Given the description of an element on the screen output the (x, y) to click on. 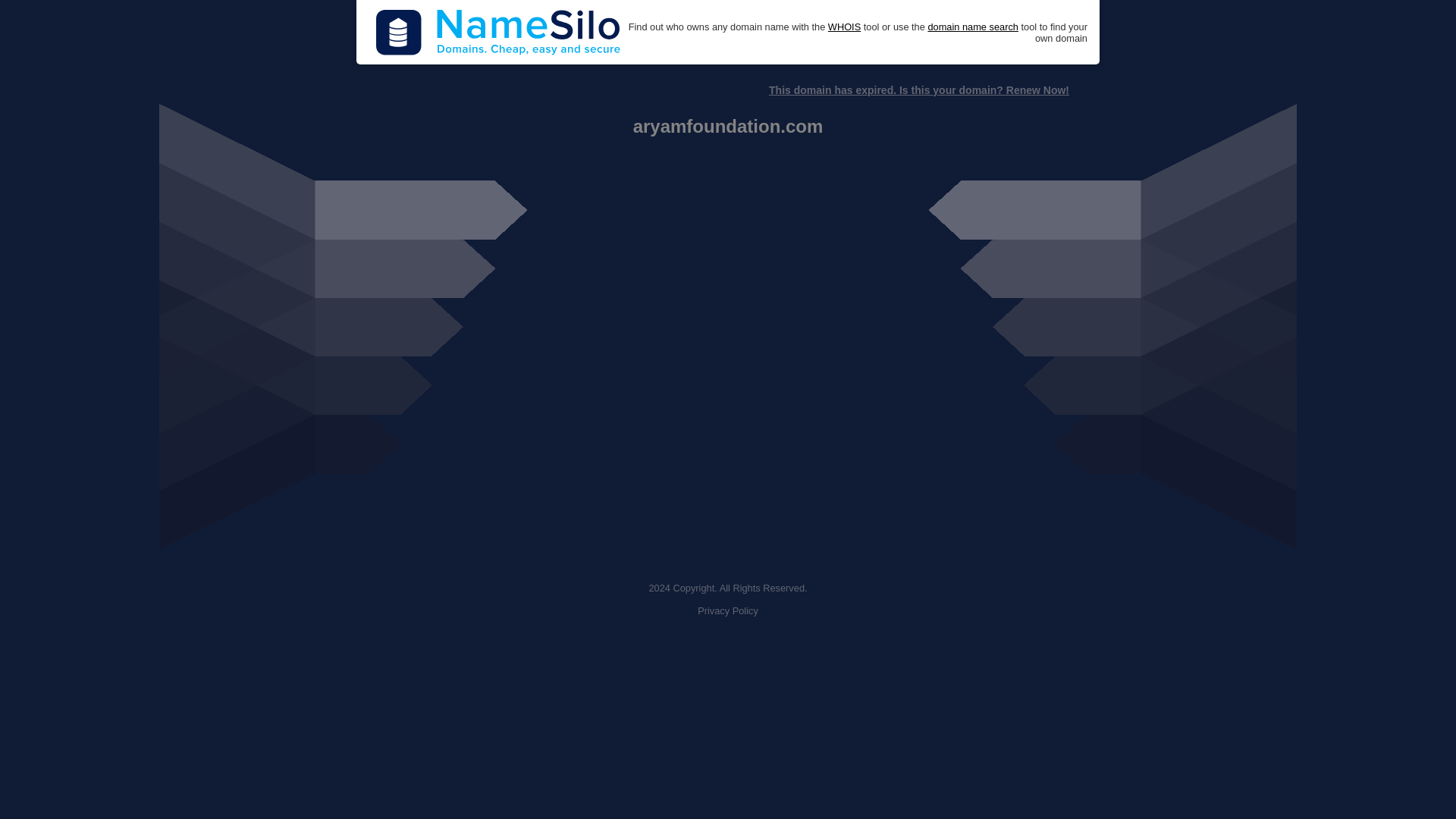
This domain has expired. Is this your domain? Renew Now! (918, 90)
WHOIS (844, 26)
domain name search (972, 26)
Privacy Policy (727, 610)
